Given the description of an element on the screen output the (x, y) to click on. 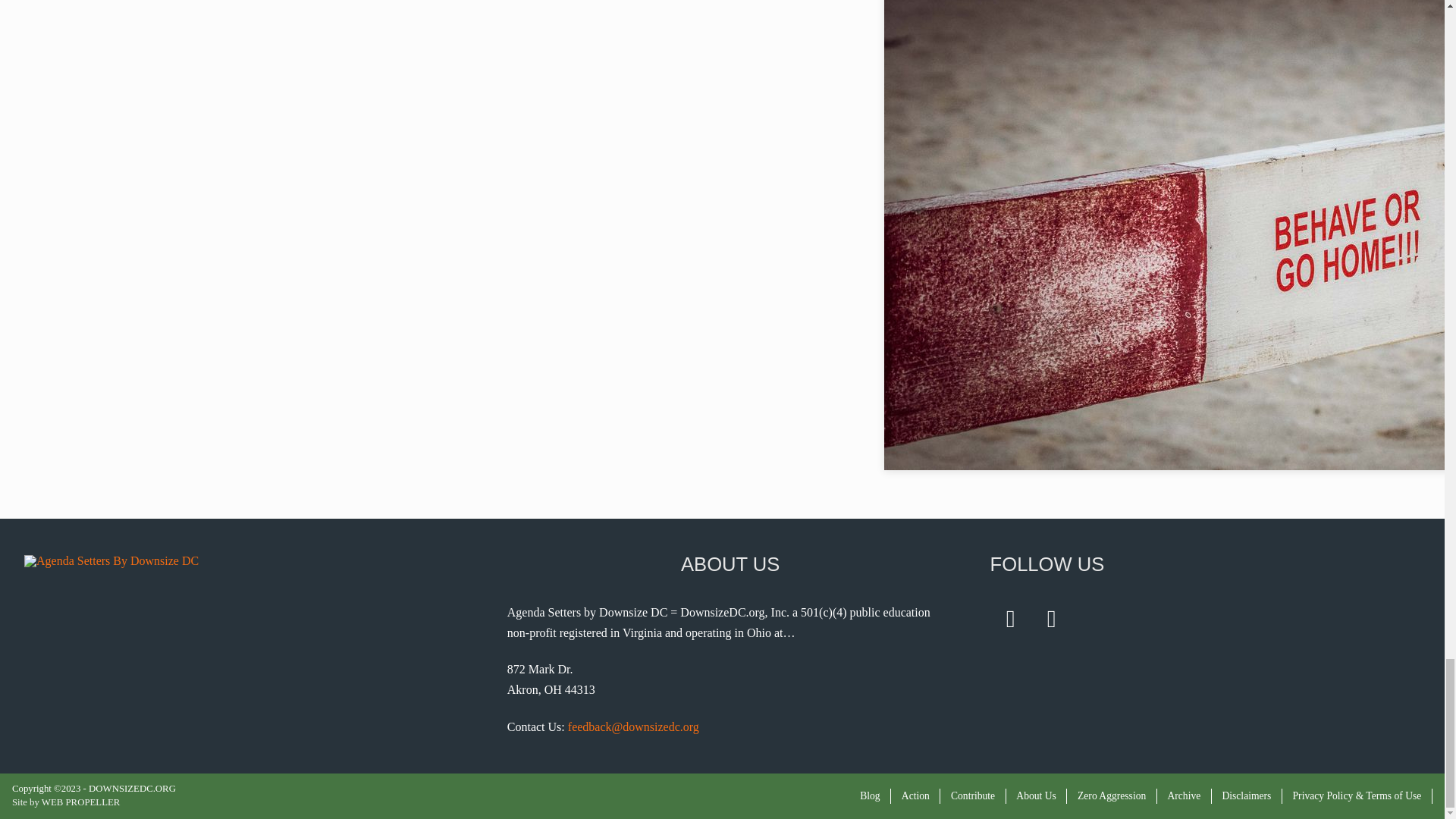
Web Propeller - Website Design and Security Agency (65, 801)
